Given the description of an element on the screen output the (x, y) to click on. 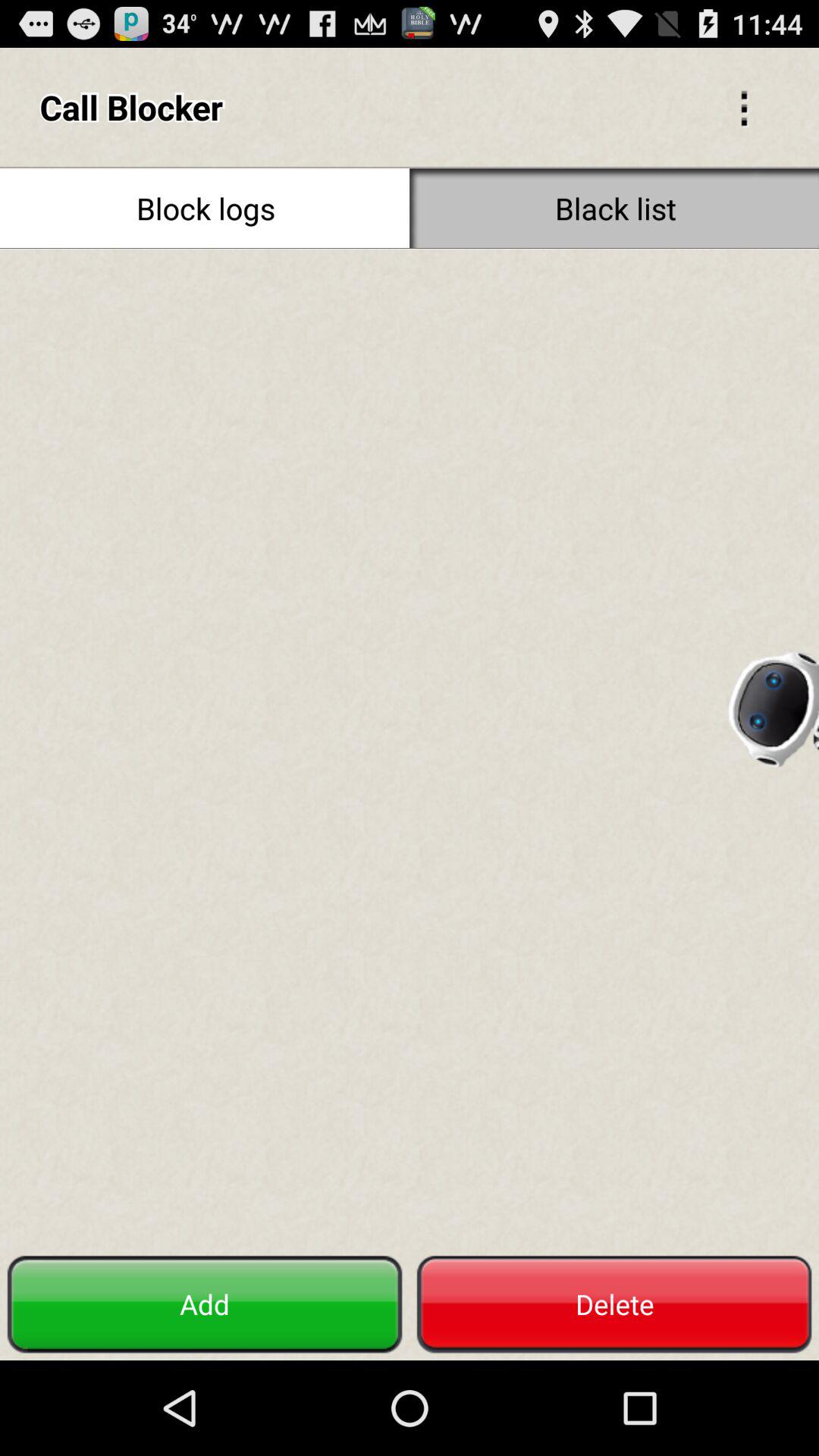
open settings (744, 107)
